Given the description of an element on the screen output the (x, y) to click on. 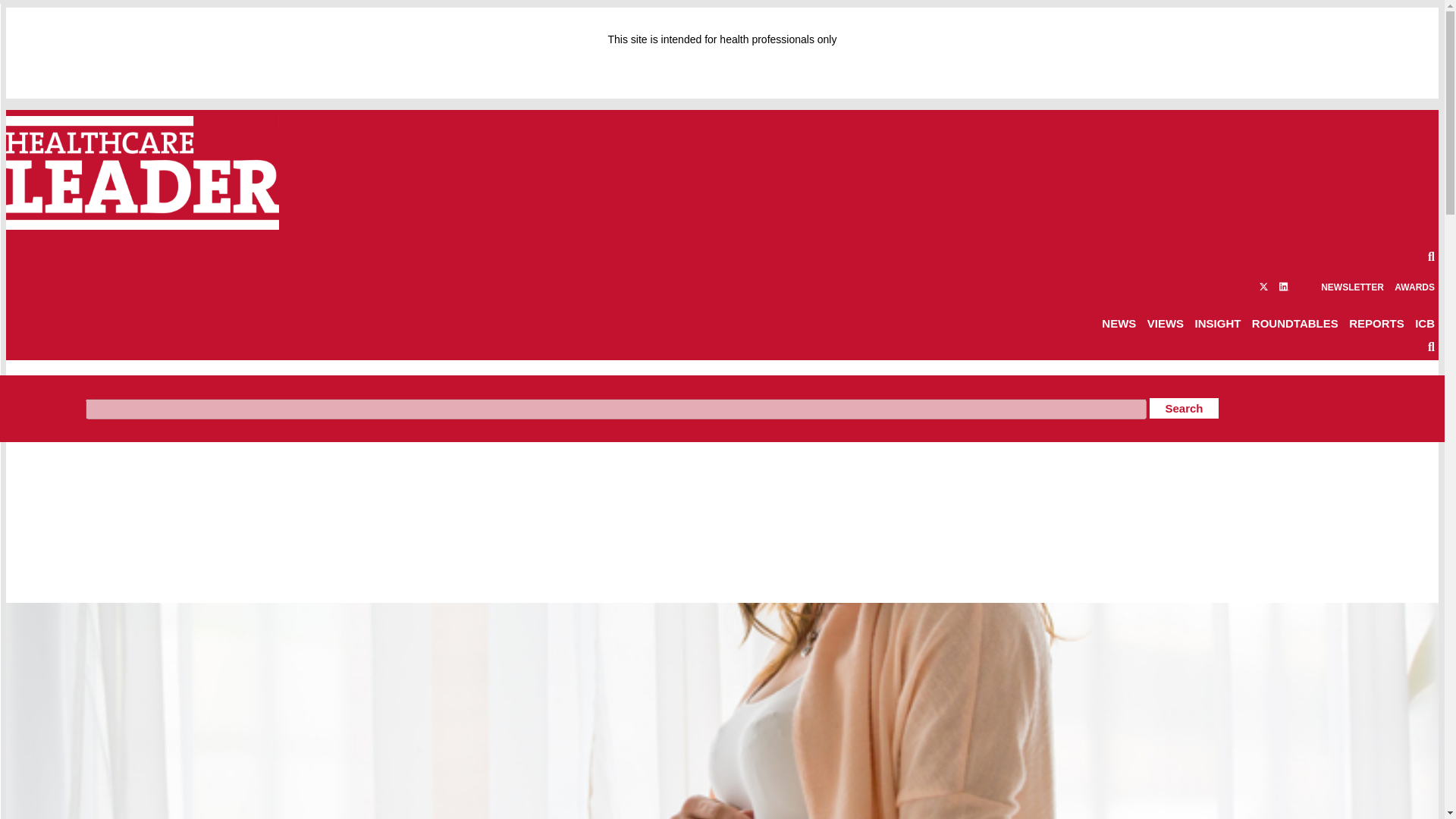
NEWS (1118, 323)
Search (1183, 408)
Home (53, 386)
VIEWS (1165, 323)
INSIGHT (1218, 323)
Search (1183, 408)
REPORTS (1377, 323)
Home (53, 386)
ROUNDTABLES (1295, 323)
NEWSLETTER (1352, 286)
News (93, 386)
